Given the description of an element on the screen output the (x, y) to click on. 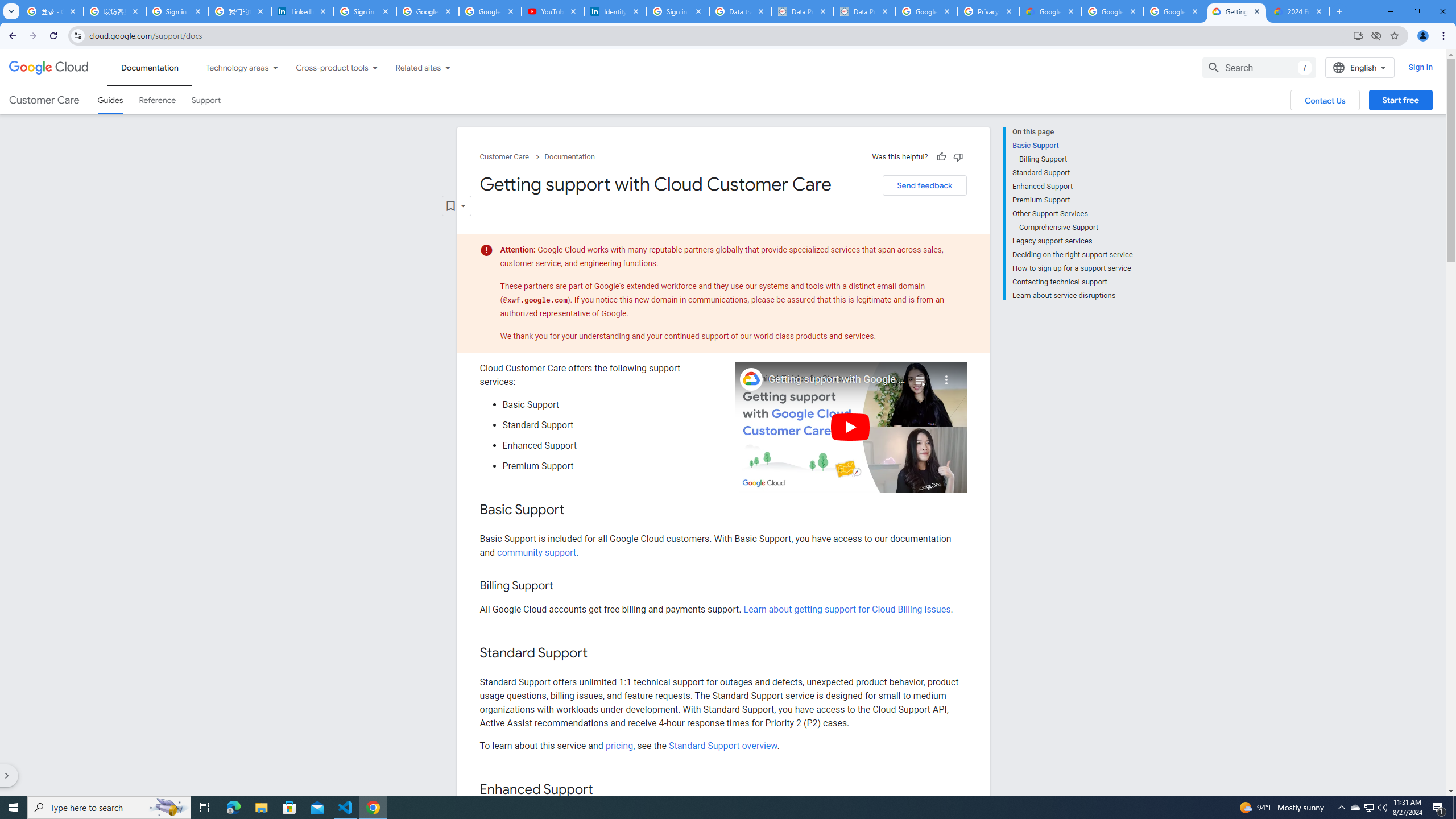
Customer Care chevron_right (511, 156)
Copy link to this section: Enhanced Support (603, 789)
Dropdown menu for Related sites (447, 67)
Google Cloud Terms Directory | Google Cloud (1050, 11)
Standard Support overview (722, 745)
Playlist (919, 375)
Dropdown menu for Cross-product tools (374, 67)
Photo image of Google Cloud Tech (750, 378)
Cross-product tools (325, 67)
LinkedIn Privacy Policy (302, 11)
